Given the description of an element on the screen output the (x, y) to click on. 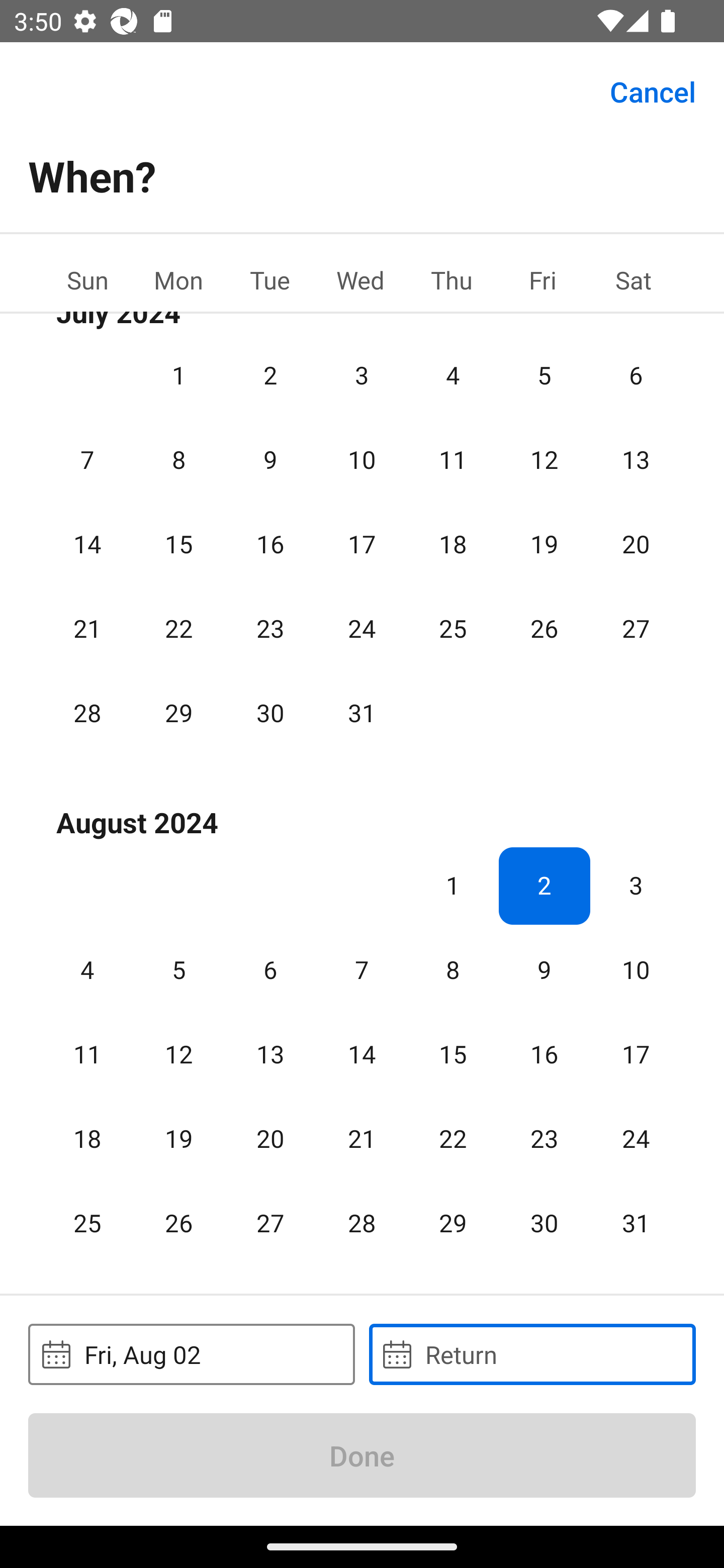
Cancel (652, 90)
Fri, Aug 02 (191, 1353)
Return (532, 1353)
Done (361, 1454)
